Given the description of an element on the screen output the (x, y) to click on. 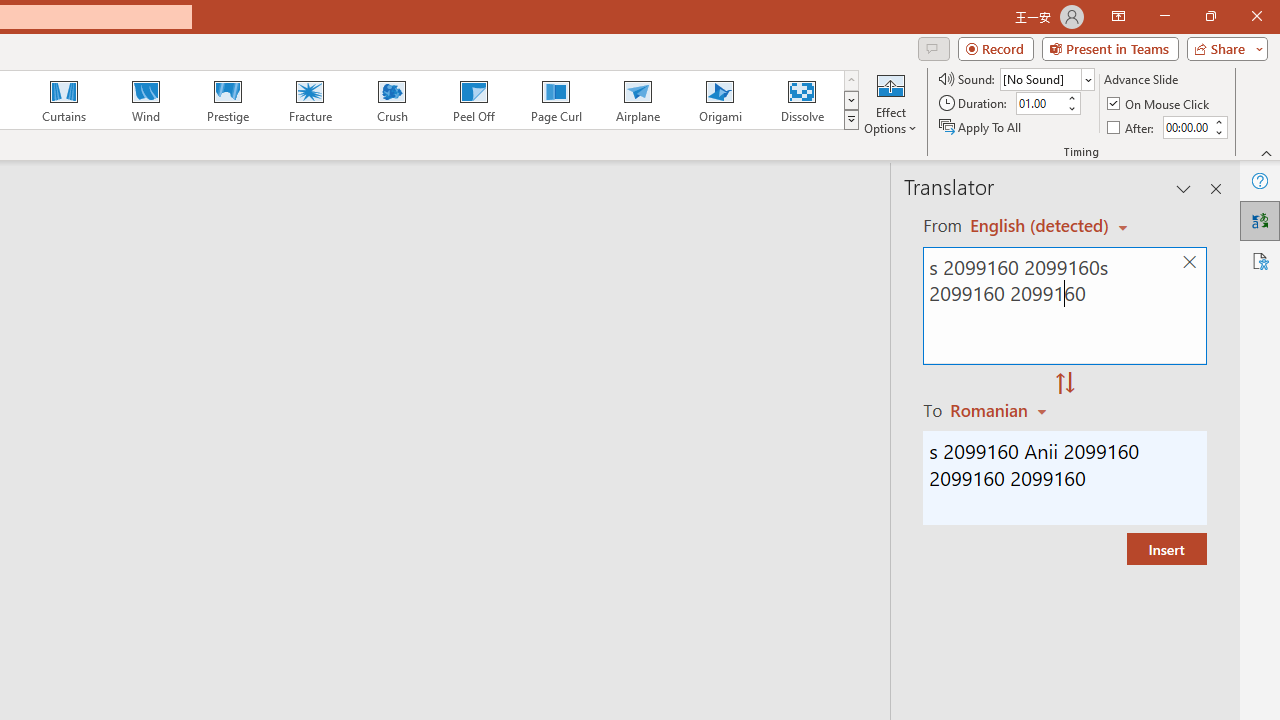
On Mouse Click (1159, 103)
Duration (1039, 103)
Clear text (1189, 262)
Dissolve (802, 100)
Apply To All (981, 126)
